Given the description of an element on the screen output the (x, y) to click on. 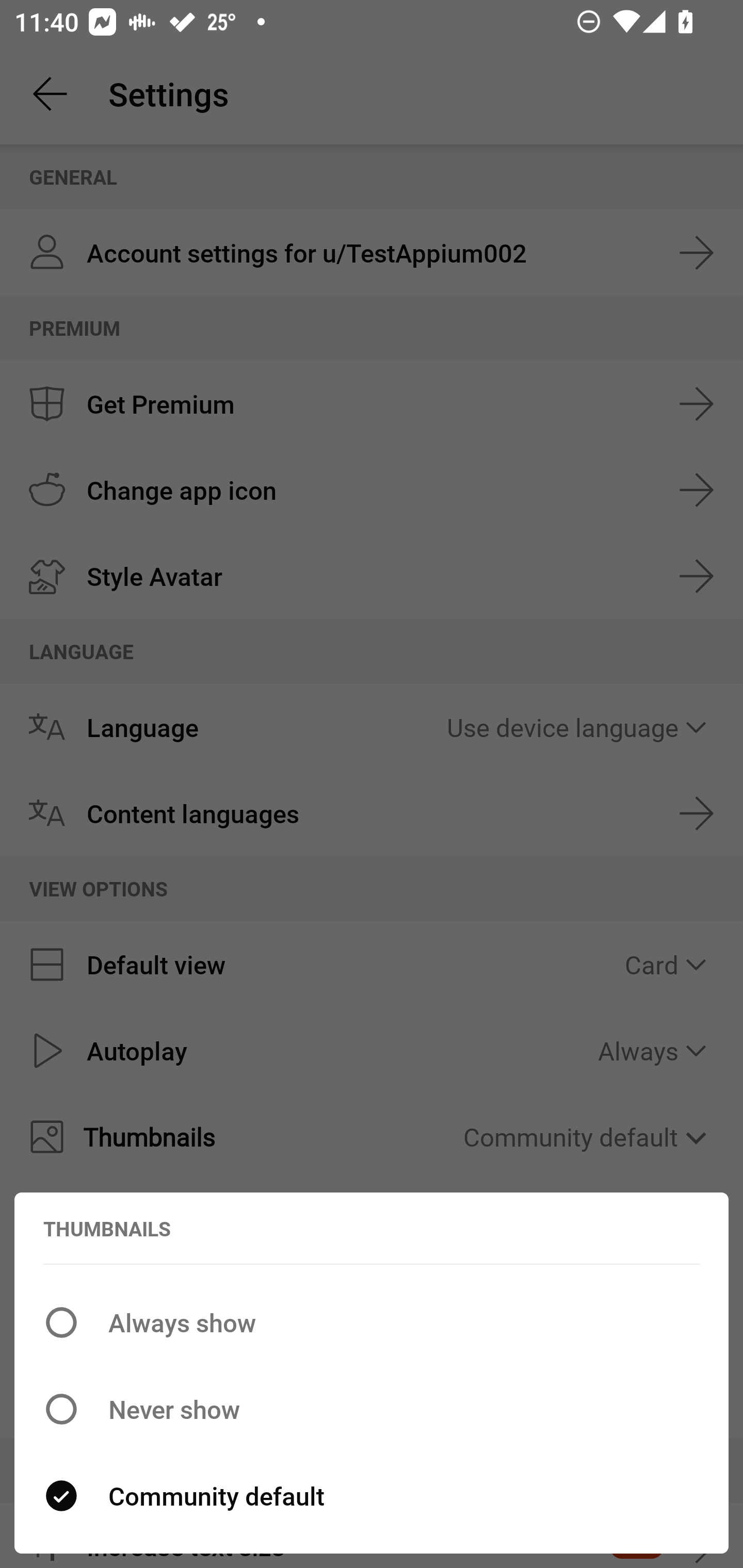
THUMBNAILS (106, 1229)
Always show (371, 1322)
Never show (371, 1408)
Community default (371, 1495)
